Given the description of an element on the screen output the (x, y) to click on. 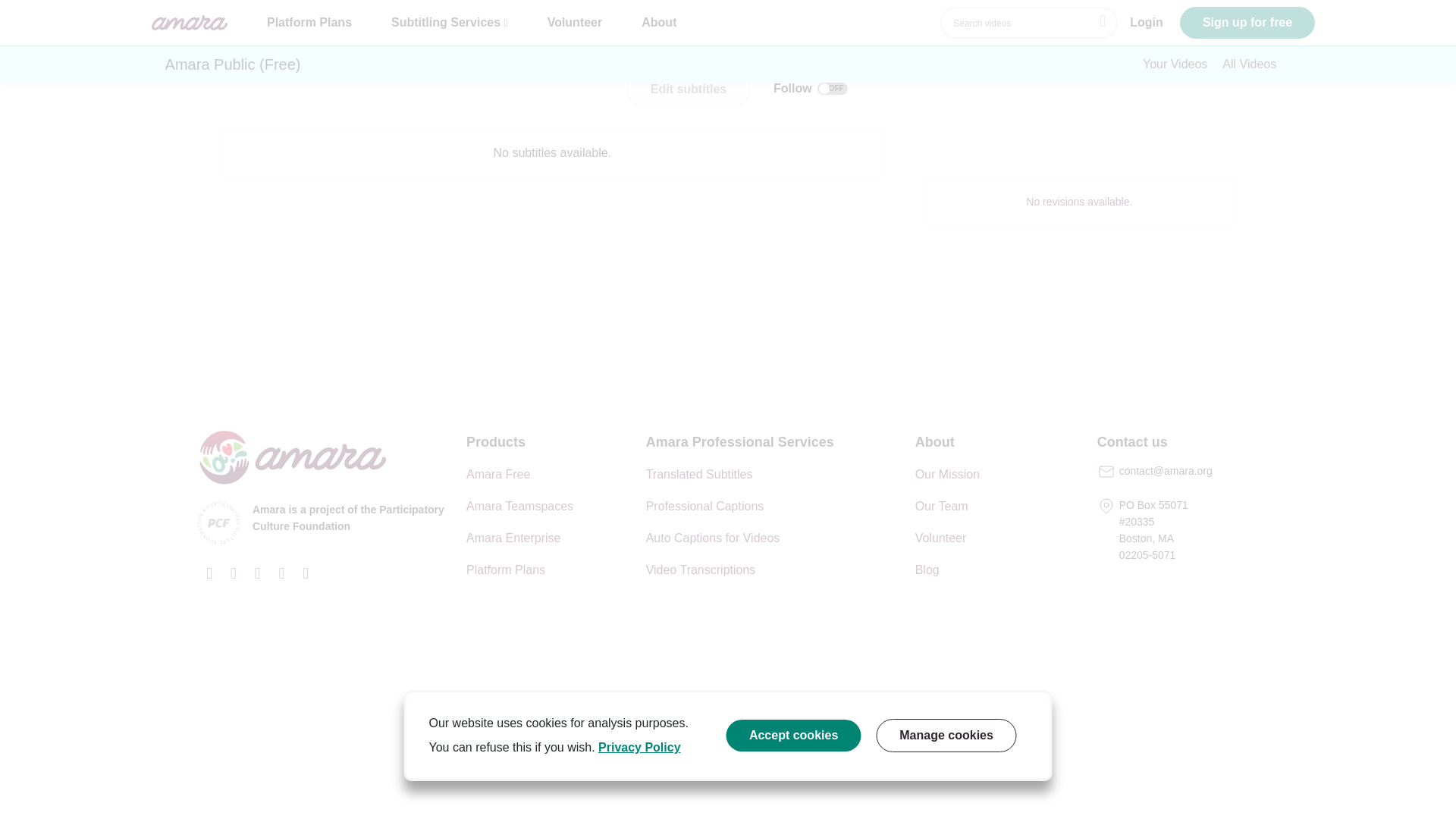
Edit subtitles (688, 89)
Manage cookies (946, 496)
Amara is a project of the Participatory Culture Foundation (323, 524)
Privacy Policy (639, 508)
Subtitles info (330, 41)
Subtitles (249, 41)
Activity (407, 41)
Accept cookies (793, 496)
